Given the description of an element on the screen output the (x, y) to click on. 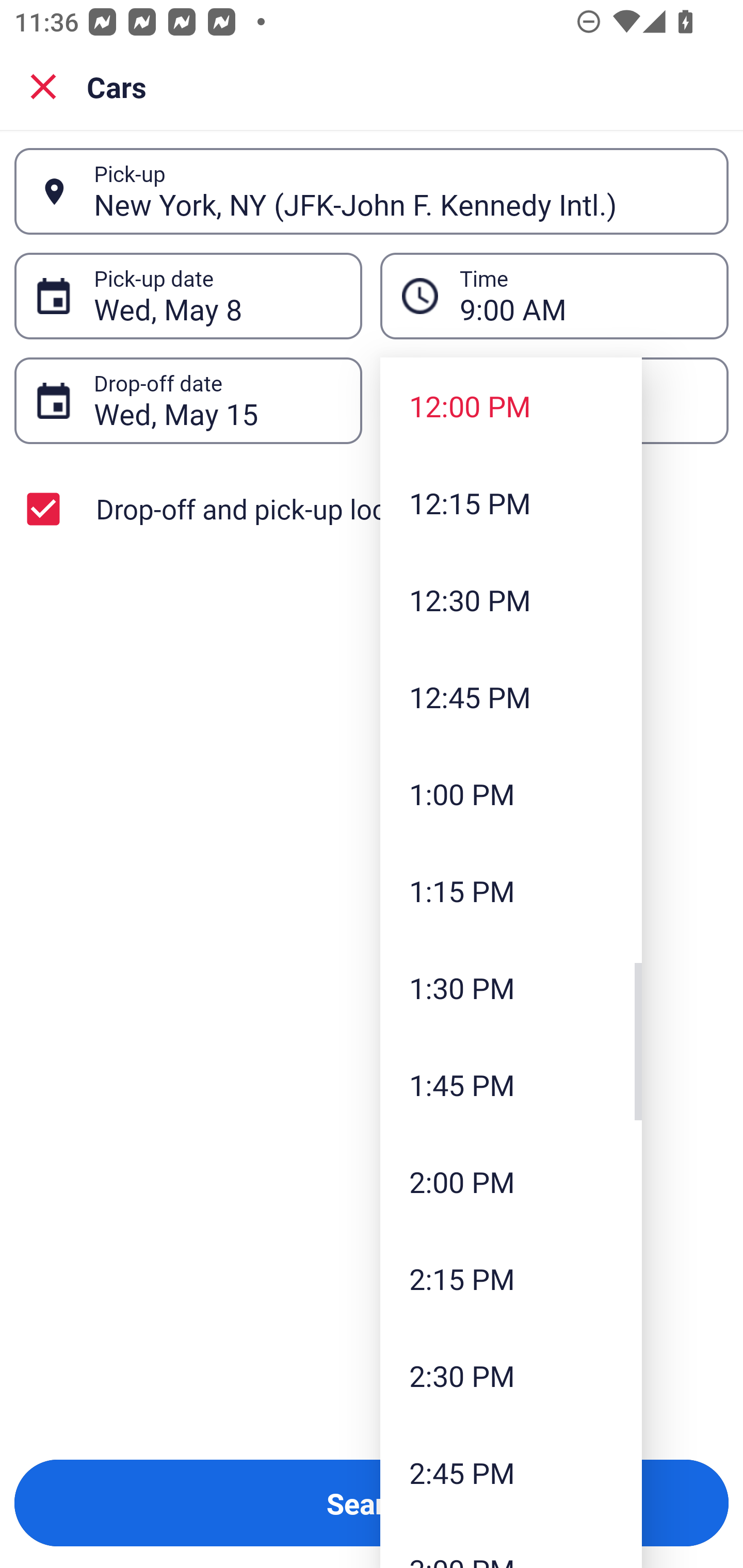
12:00 PM (510, 405)
12:15 PM (510, 502)
12:30 PM (510, 599)
12:45 PM (510, 695)
1:00 PM (510, 793)
1:15 PM (510, 890)
1:30 PM (510, 987)
1:45 PM (510, 1084)
2:00 PM (510, 1181)
2:15 PM (510, 1278)
2:30 PM (510, 1374)
2:45 PM (510, 1471)
